Given the description of an element on the screen output the (x, y) to click on. 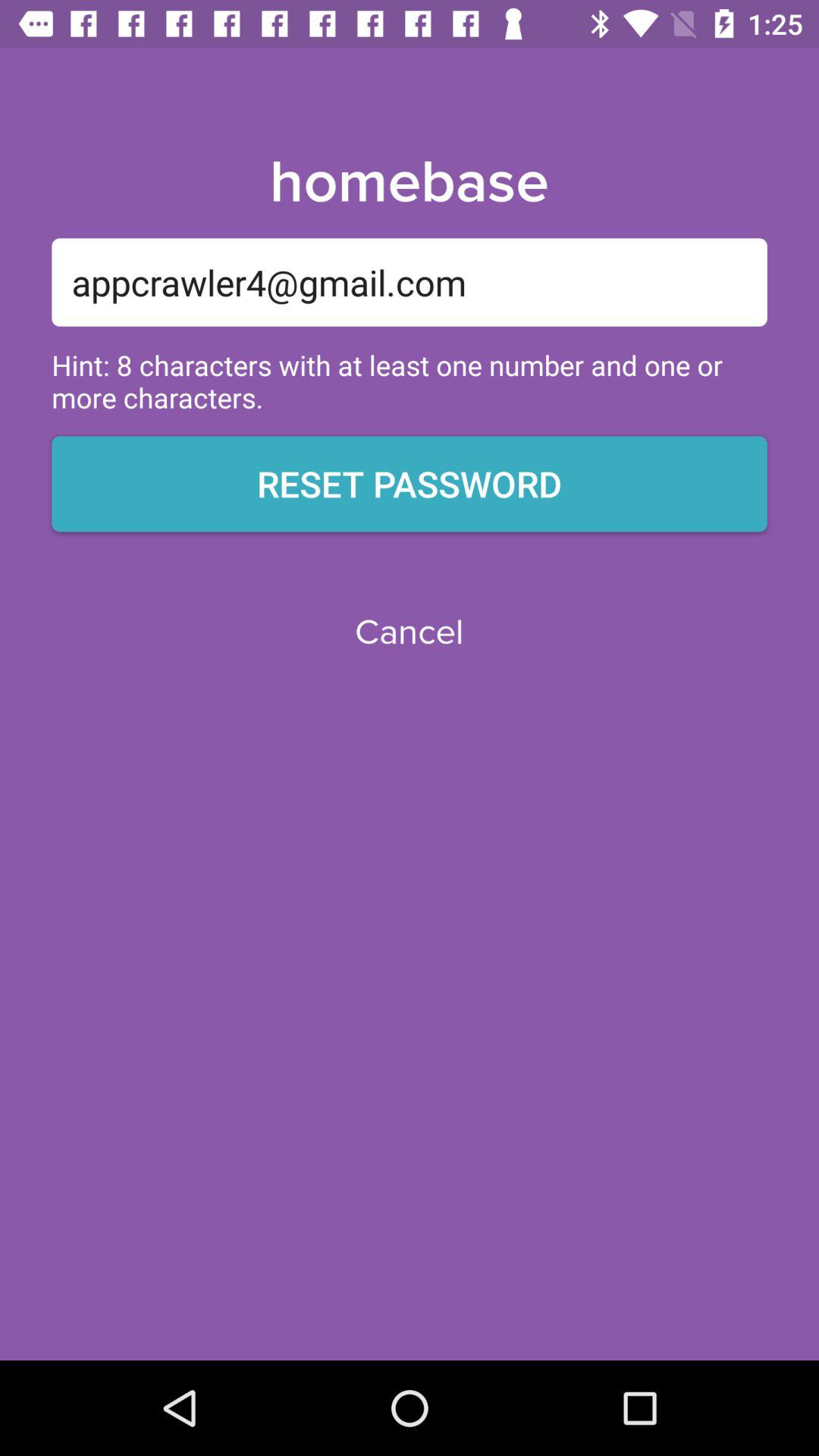
tap the reset password (409, 483)
